Given the description of an element on the screen output the (x, y) to click on. 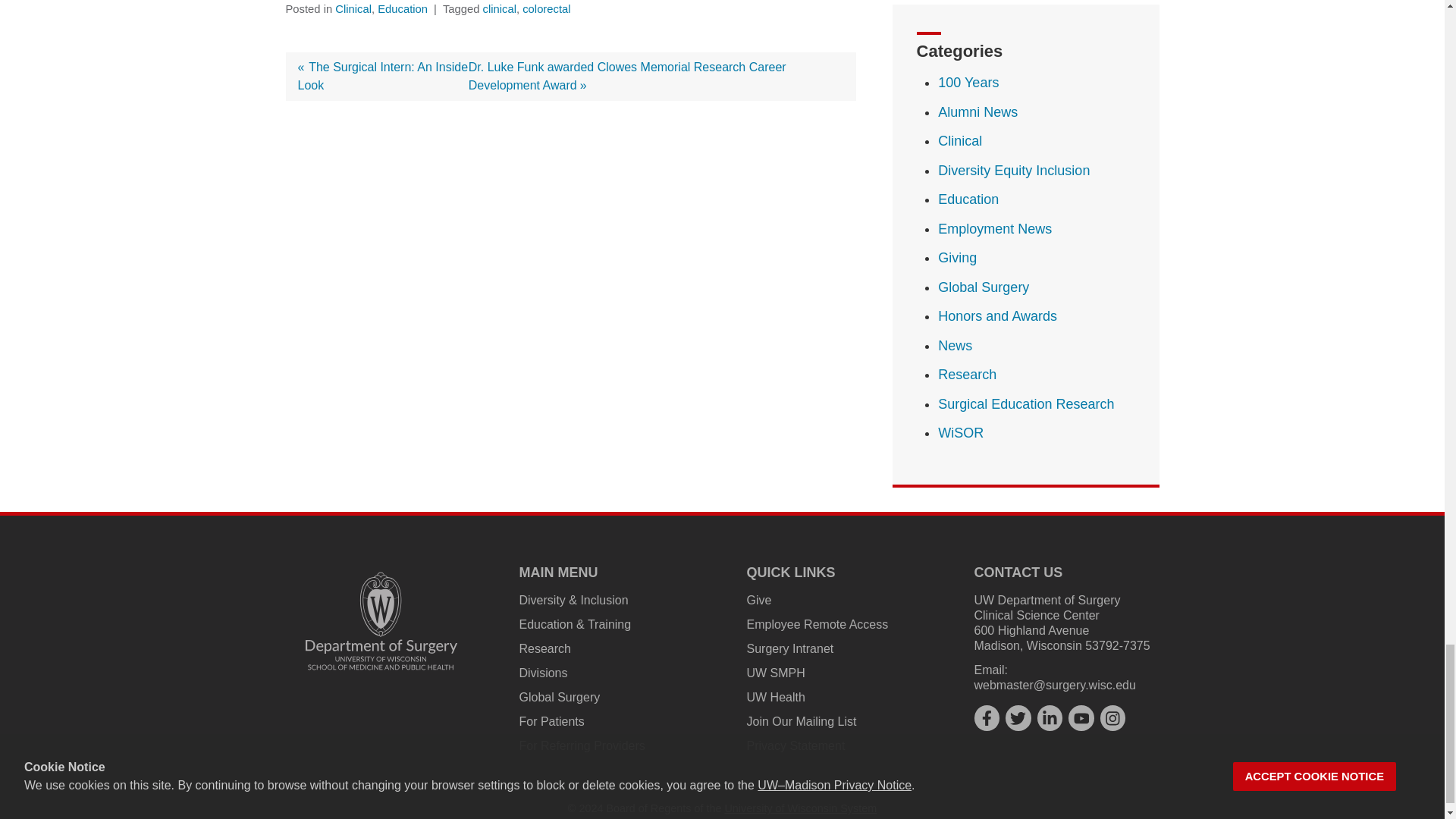
twitter (1018, 718)
instagram (1113, 718)
linkedin (1049, 718)
Department of Surgery (380, 621)
Department of Surgery (380, 621)
facebook (986, 718)
youtube (1081, 718)
